Given the description of an element on the screen output the (x, y) to click on. 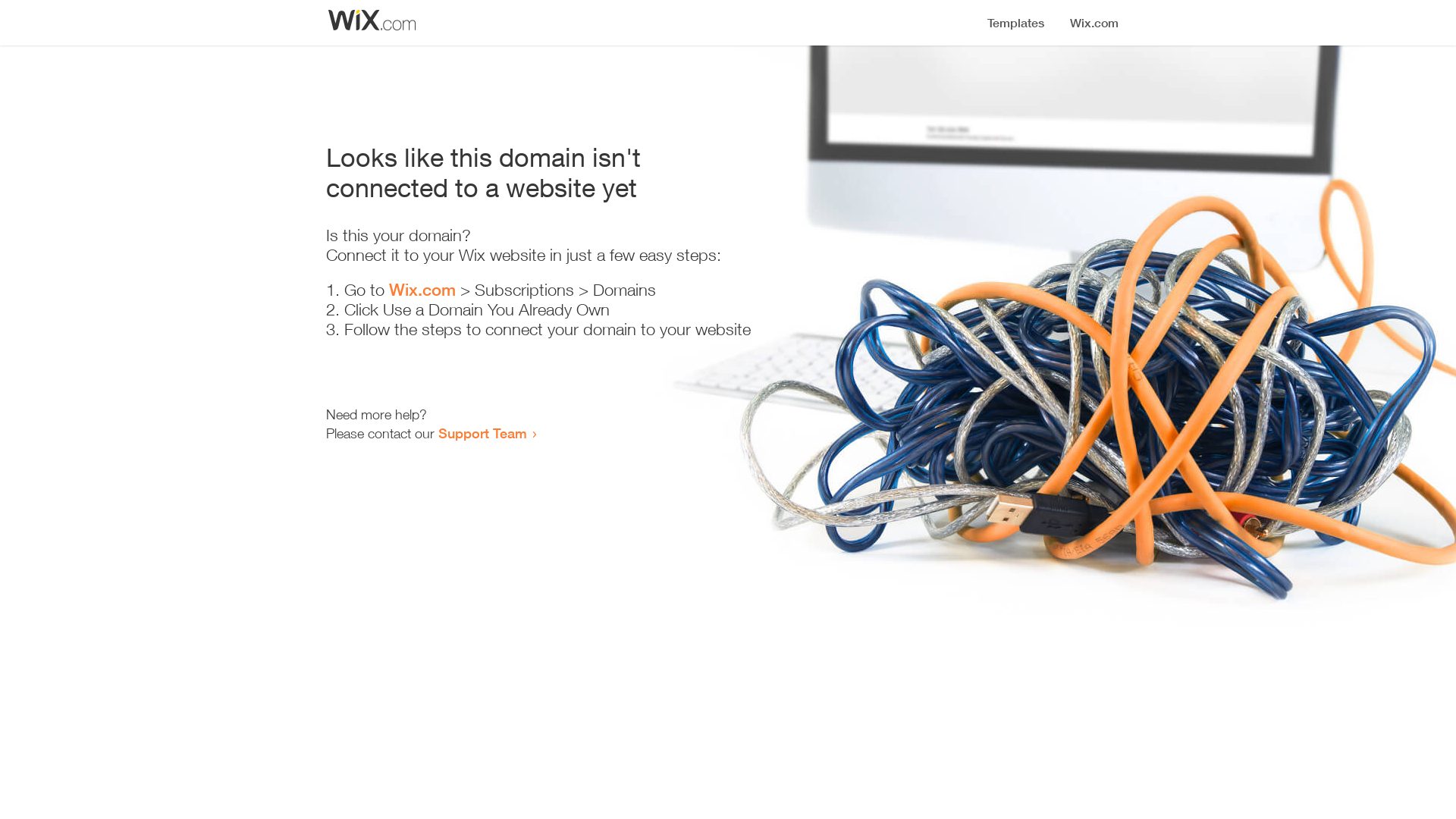
Wix.com Element type: text (422, 289)
Support Team Element type: text (482, 432)
